Given the description of an element on the screen output the (x, y) to click on. 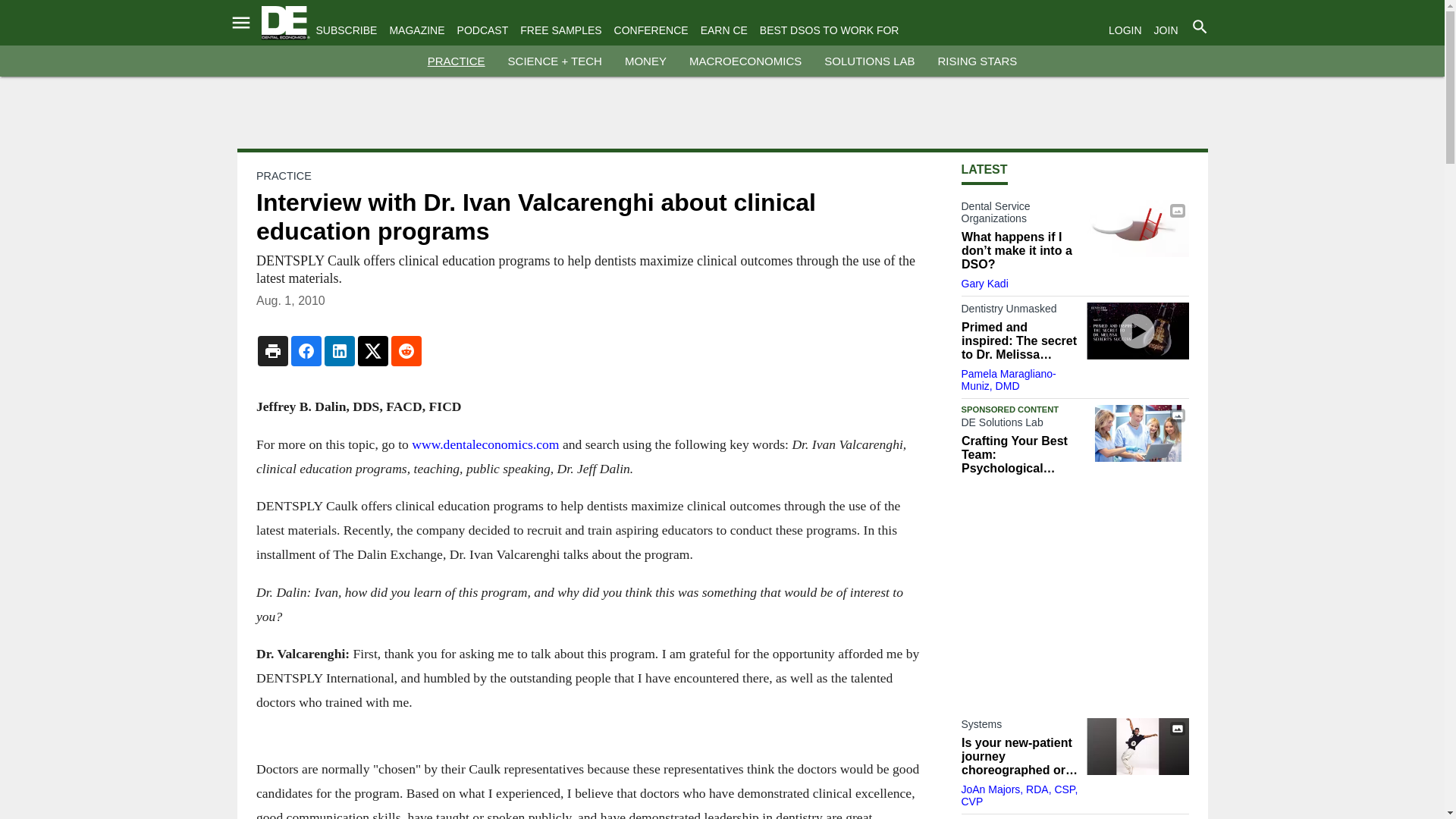
MONEY (645, 60)
BEST DSOS TO WORK FOR (829, 30)
SOLUTIONS LAB (869, 60)
MACROECONOMICS (745, 60)
RISING STARS (976, 60)
CONFERENCE (651, 30)
PRACTICE (456, 60)
FREE SAMPLES (560, 30)
Dentist Team (1137, 432)
Primed and inspired: The secret to Dr (1137, 330)
